Given the description of an element on the screen output the (x, y) to click on. 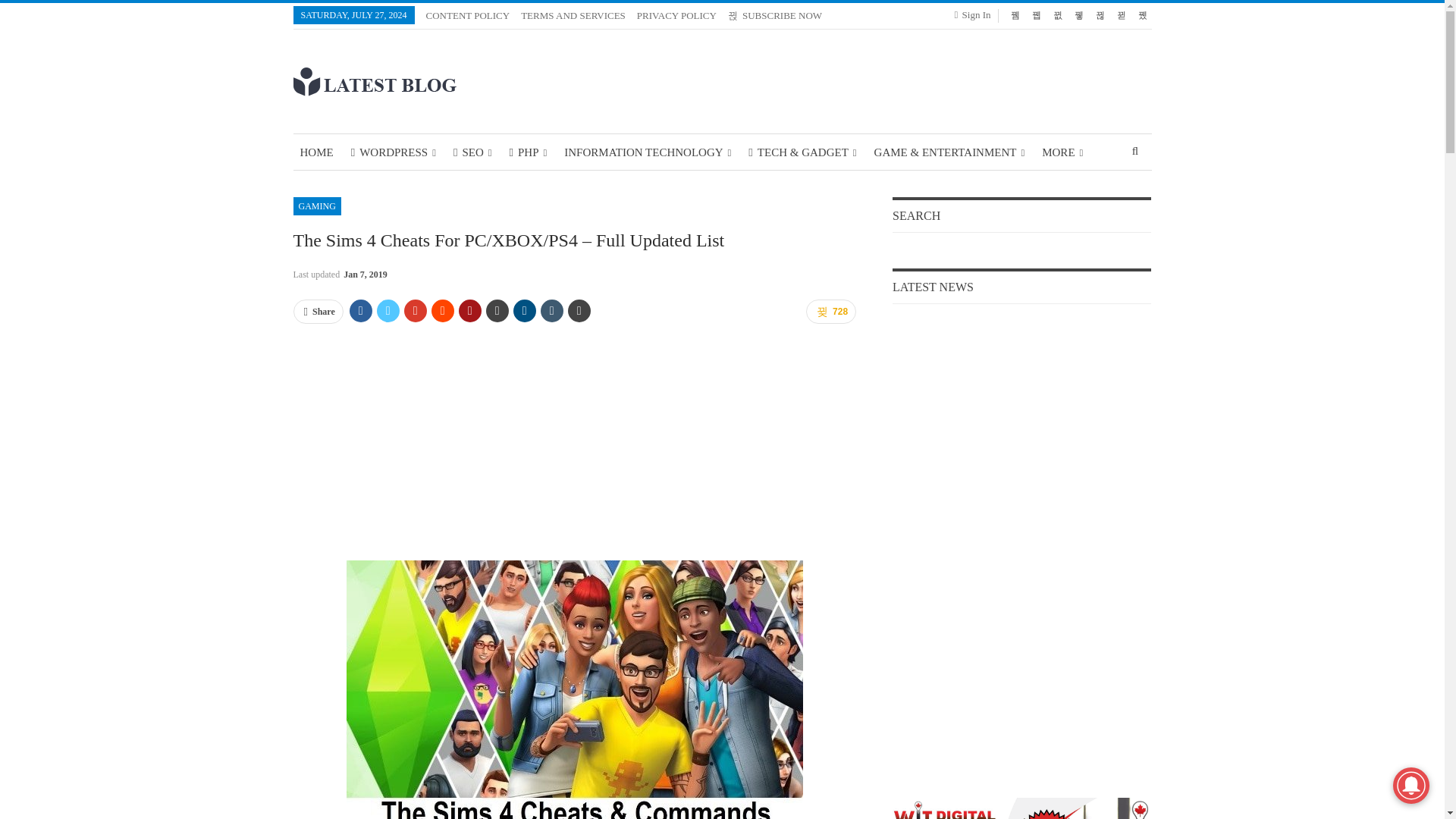
SUBSCRIBE NOW (775, 15)
WORDPRESS (392, 152)
Advertisement (874, 79)
SEO (472, 152)
PHP (528, 152)
TERMS AND SERVICES (573, 15)
PRIVACY POLICY (676, 15)
CONTENT POLICY (468, 15)
Sign In (976, 14)
HOME (315, 152)
Advertisement (574, 442)
INFORMATION TECHNOLOGY (647, 152)
